Given the description of an element on the screen output the (x, y) to click on. 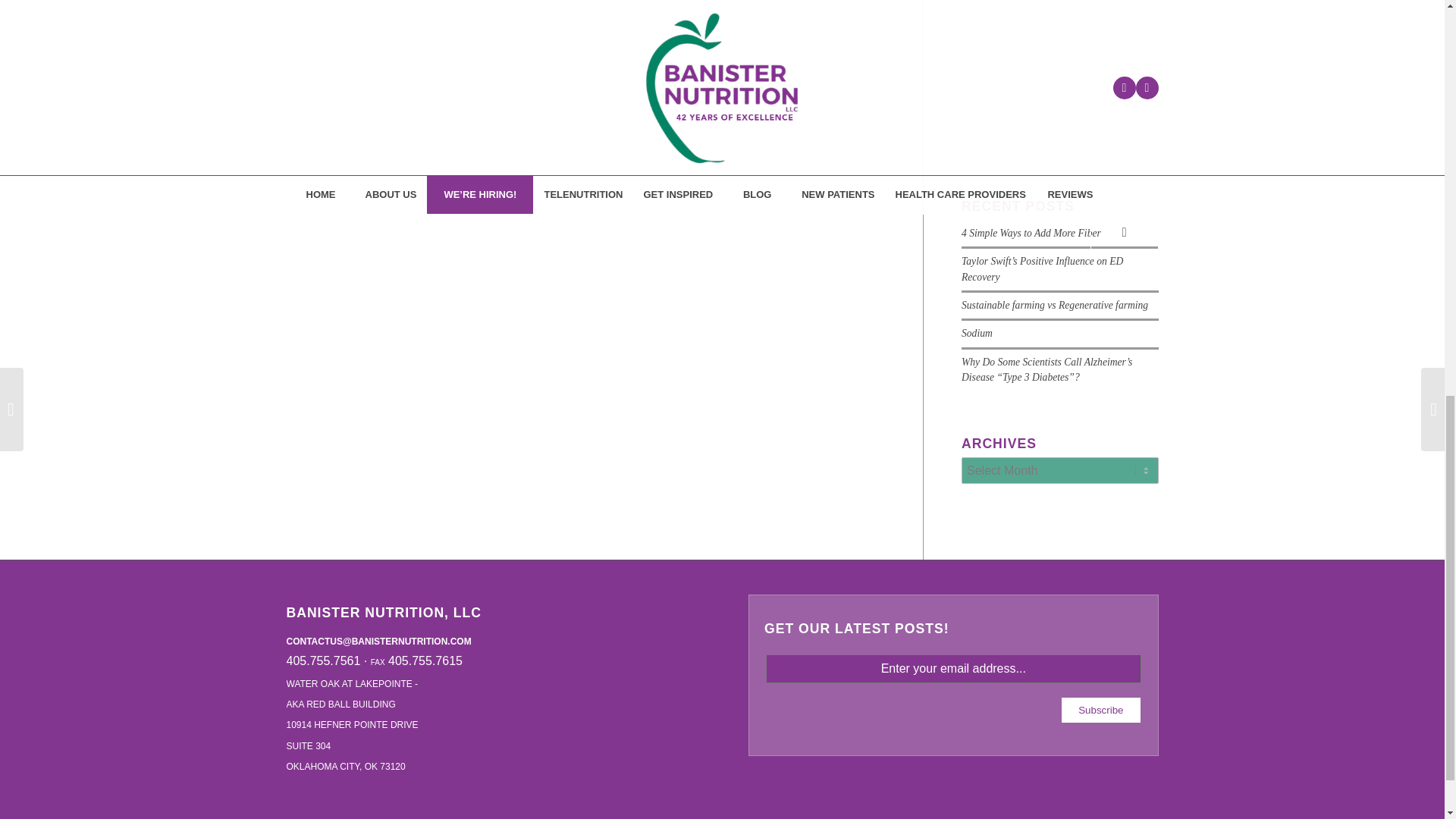
Sodium (976, 333)
4 Simple Ways to Add More Fiber (1030, 233)
Sustainable farming vs Regenerative farming (1054, 305)
Subscribe (1100, 709)
